Given the description of an element on the screen output the (x, y) to click on. 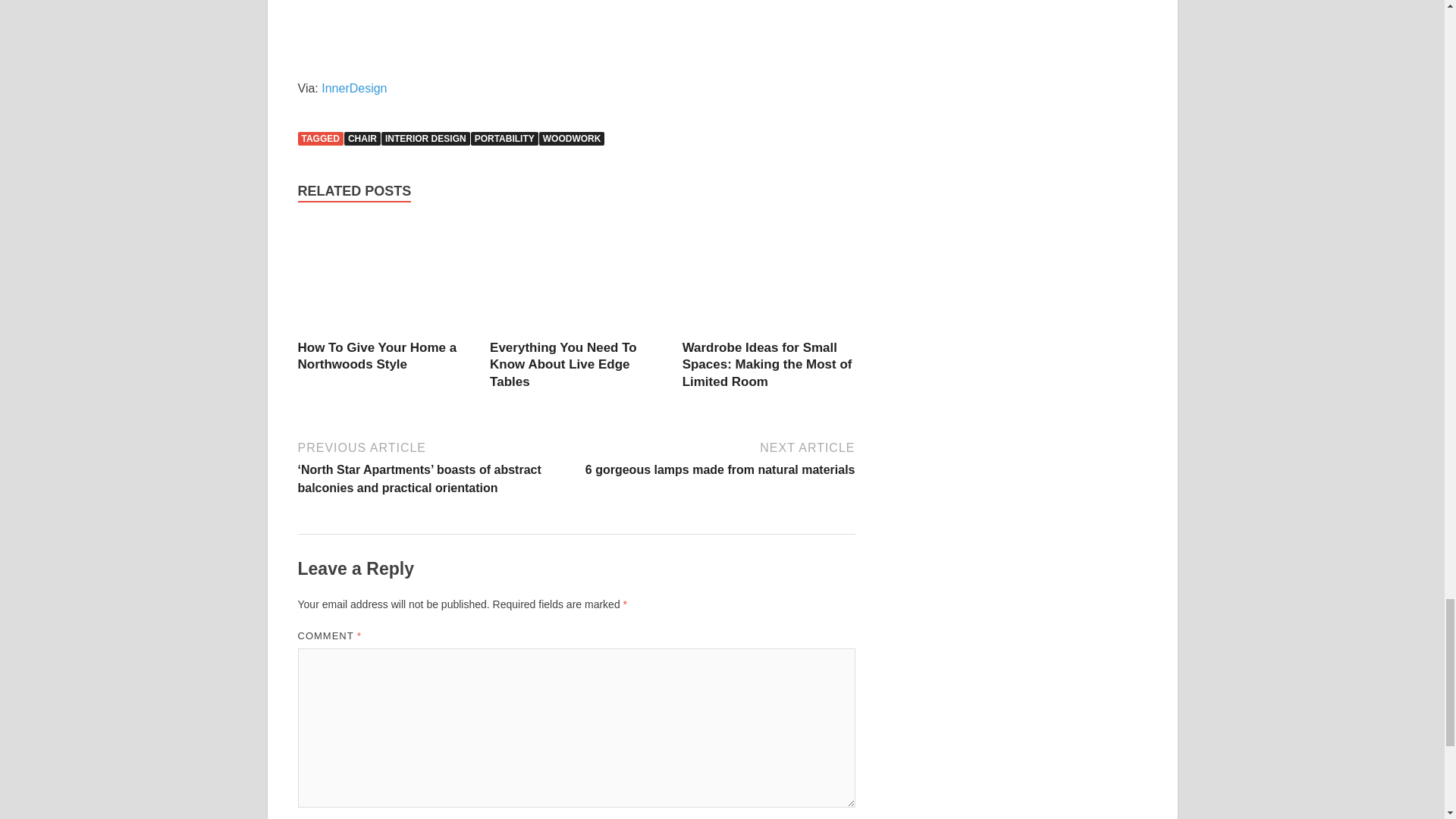
How To Give Your Home a Northwoods Style (377, 355)
CHAIR (361, 138)
INTERIOR DESIGN (425, 138)
WOODWORK (571, 138)
PORTABILITY (504, 138)
InnerDesign (354, 88)
Everything You Need To Know About Live Edge Tables (563, 364)
How To Give Your Home a Northwoods Style (383, 278)
